Given the description of an element on the screen output the (x, y) to click on. 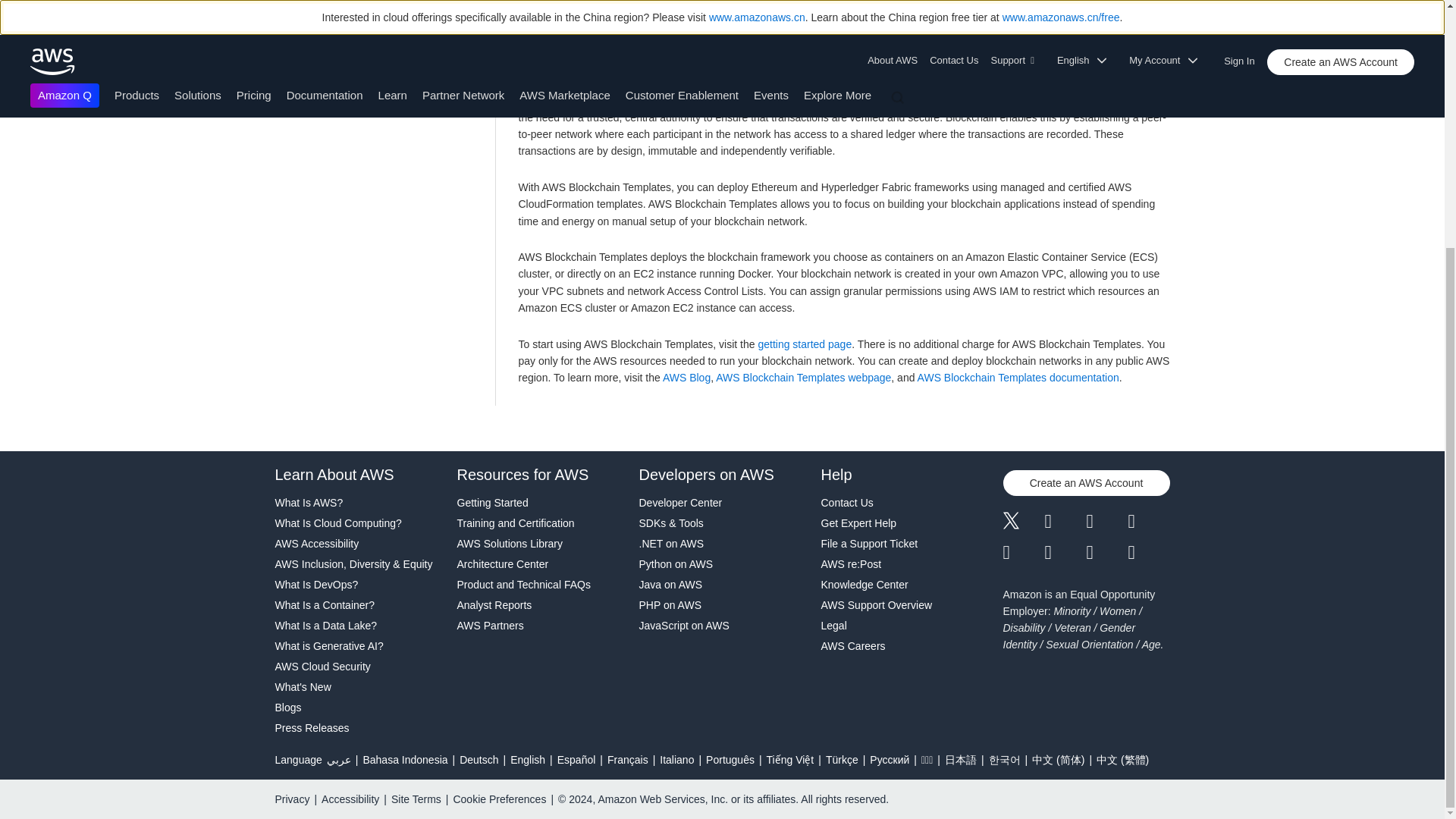
Instagram (1149, 522)
YouTube (1065, 552)
Press Releases (358, 727)
Facebook (1065, 522)
Podcast (1106, 552)
Twitch (1023, 552)
Twitter (1023, 522)
Linkedin (1106, 522)
